Given the description of an element on the screen output the (x, y) to click on. 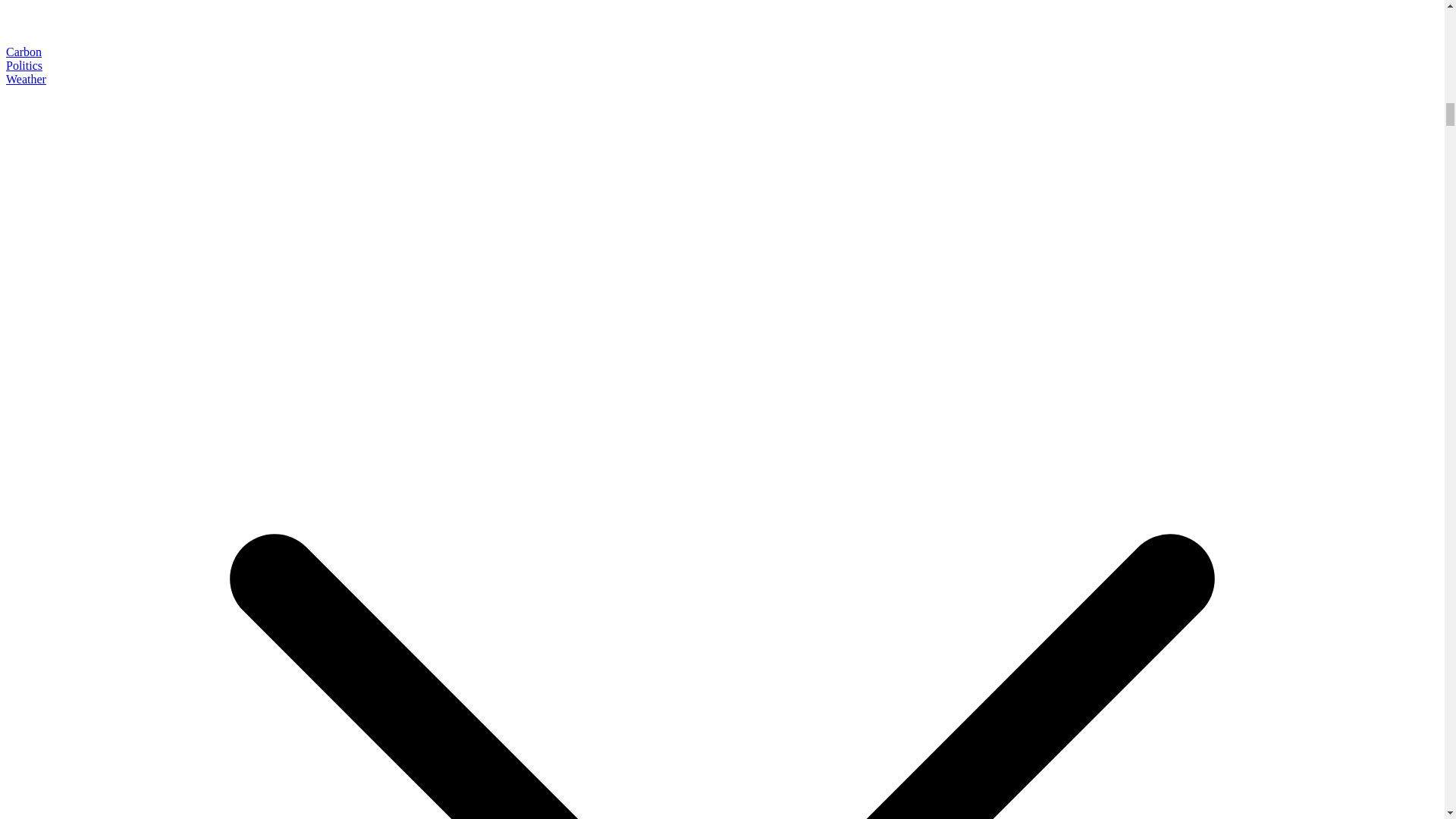
Politics (23, 65)
Weather (25, 78)
Carbon (23, 51)
